Given the description of an element on the screen output the (x, y) to click on. 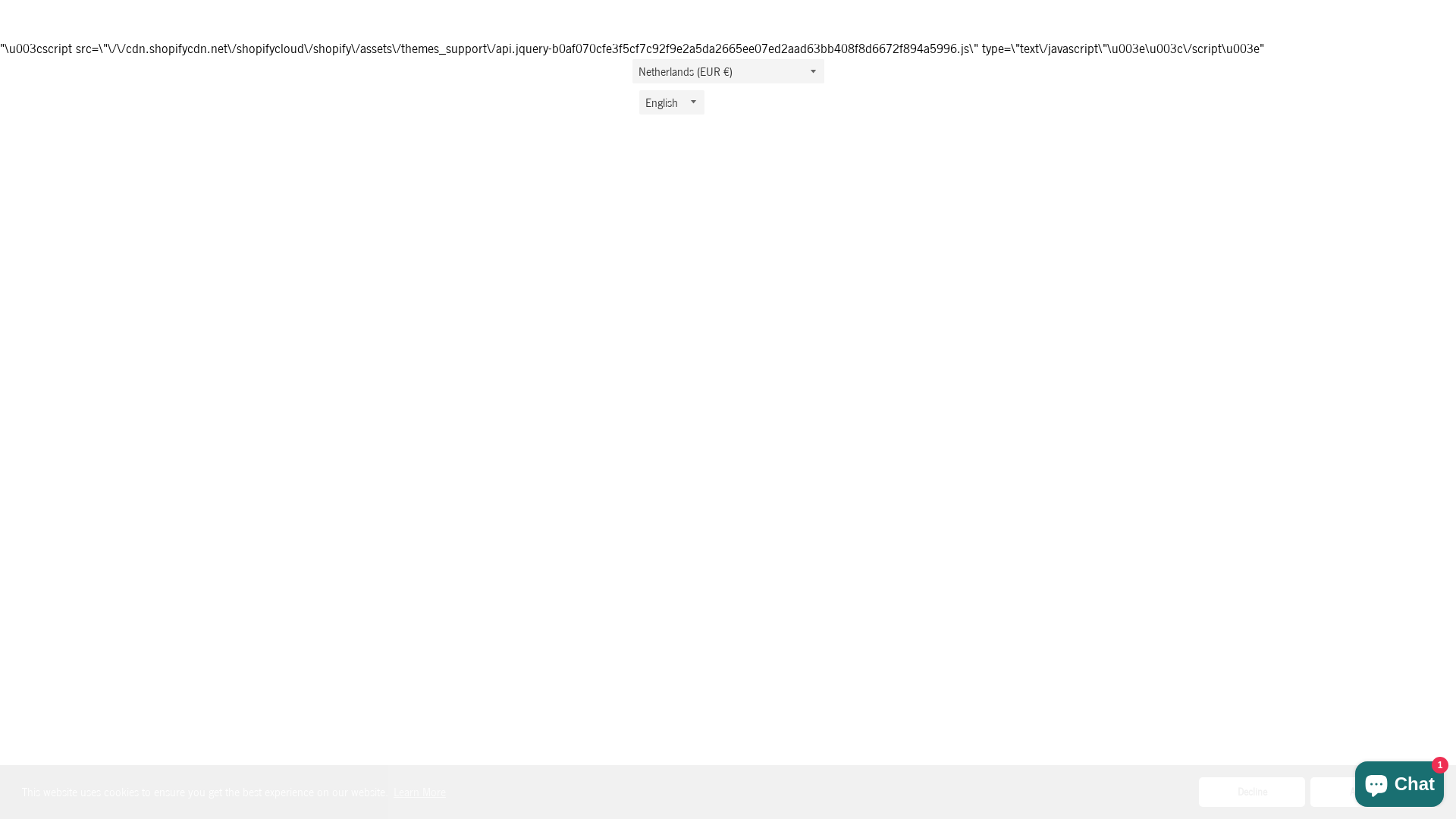
Decline Element type: text (1251, 791)
Shopify online store chat Element type: hover (1399, 780)
Accept Element type: text (1363, 791)
